Given the description of an element on the screen output the (x, y) to click on. 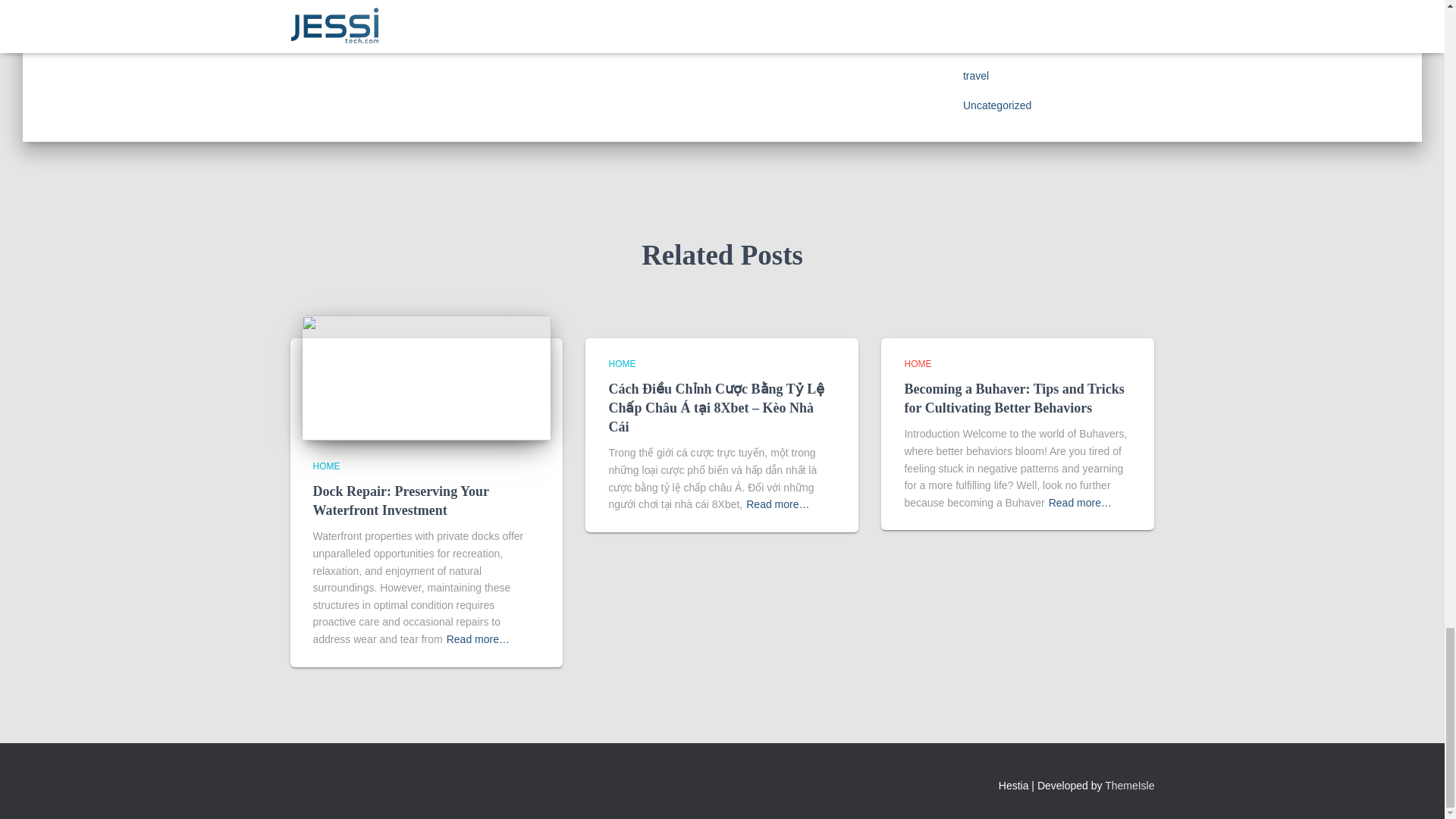
View all posts in Home (621, 363)
View all posts in Home (326, 466)
Dock Repair: Preserving Your Waterfront Investment (426, 377)
Dock Repair: Preserving Your Waterfront Investment (400, 500)
View all posts in Home (917, 363)
